Given the description of an element on the screen output the (x, y) to click on. 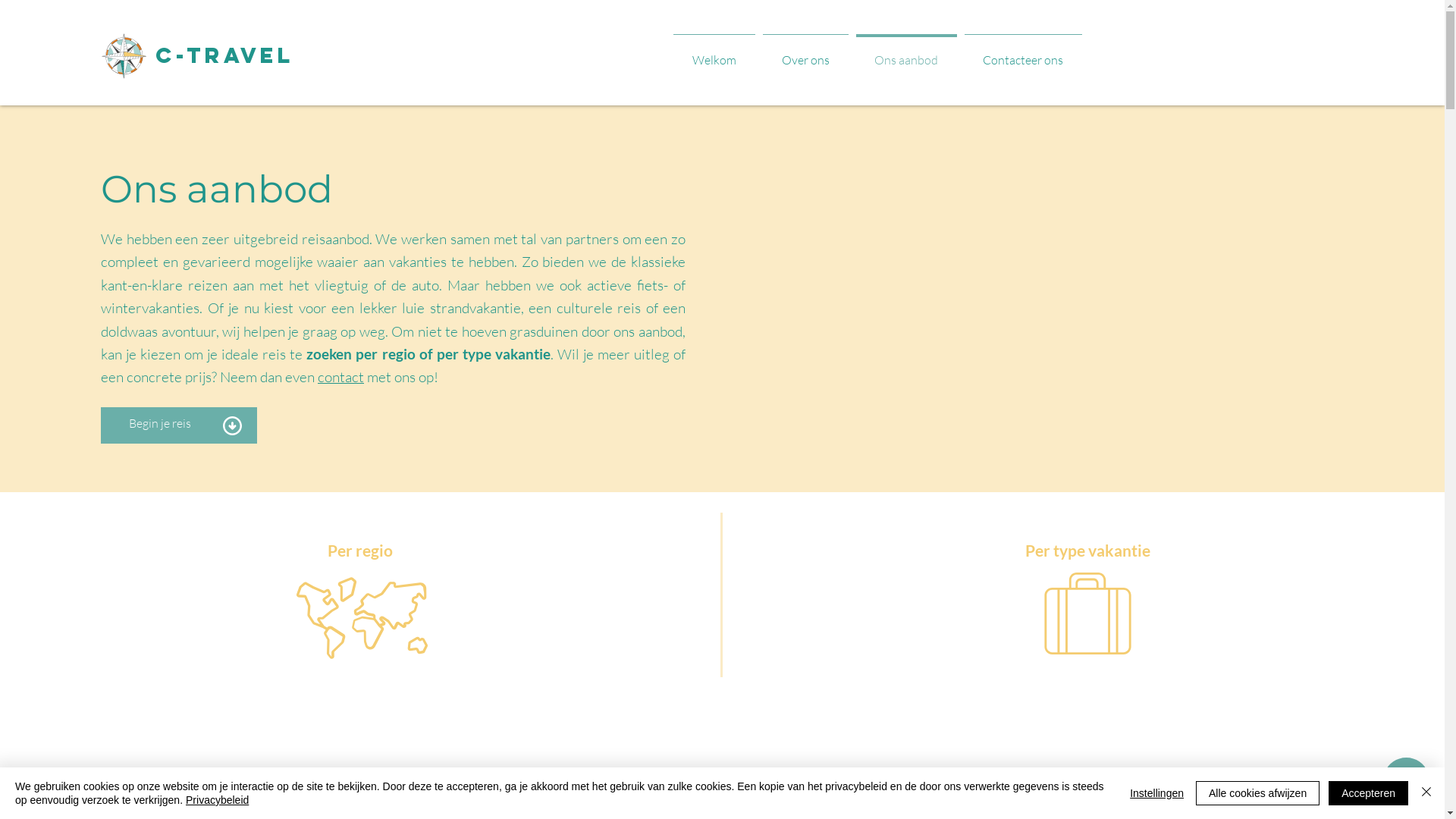
Per regio Element type: text (359, 550)
Accepteren Element type: text (1368, 793)
Contacteer ons Element type: text (1022, 53)
Ons aanbod Element type: text (906, 53)
Begin je reis Element type: text (159, 423)
contact Element type: text (340, 376)
Privacybeleid Element type: text (216, 799)
Alle cookies afwijzen Element type: text (1257, 793)
C-TRAVEL Element type: text (224, 55)
Per type vakantie Element type: text (1087, 550)
Over ons Element type: text (804, 53)
Welkom Element type: text (713, 53)
